Given the description of an element on the screen output the (x, y) to click on. 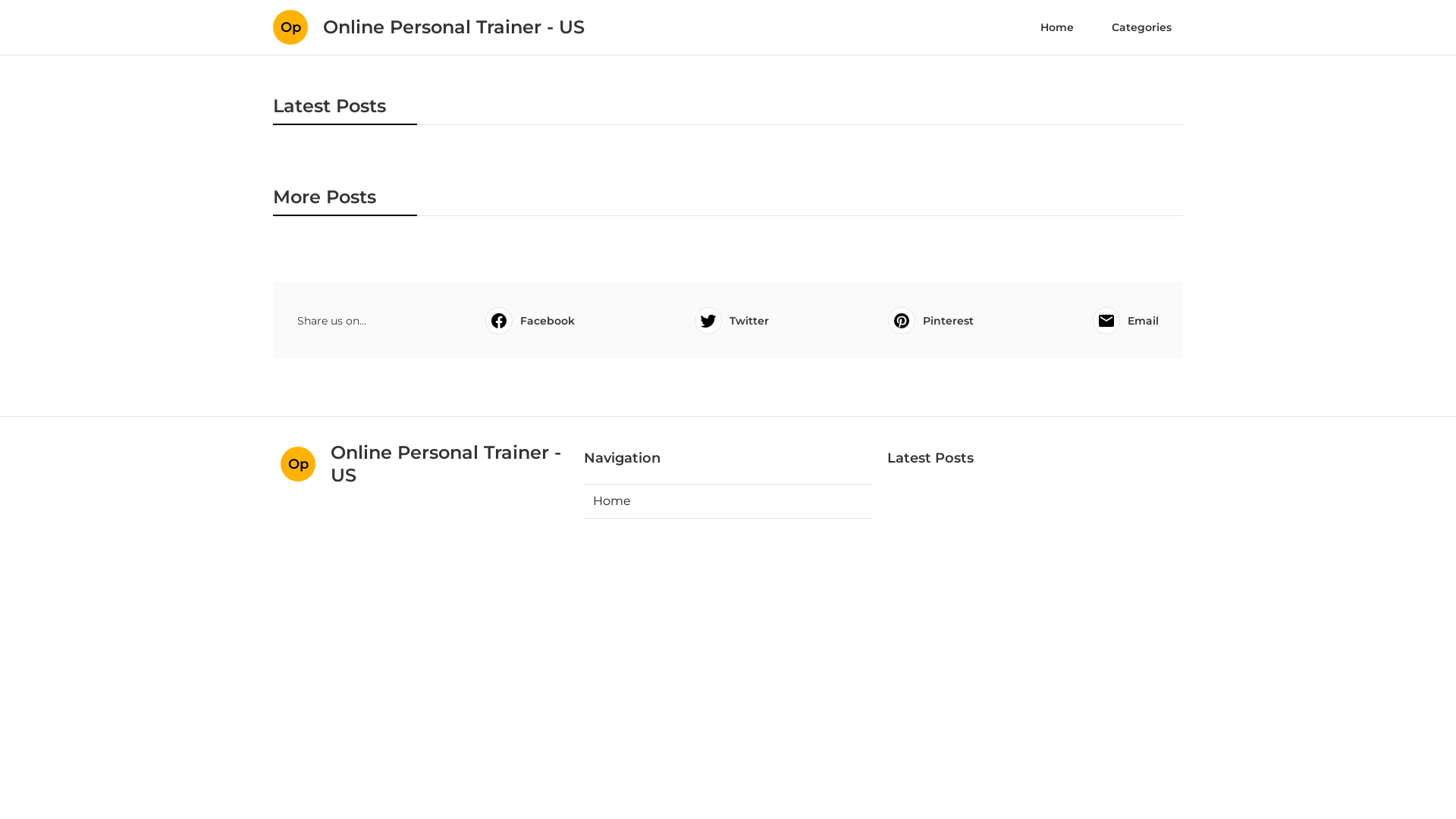
Home Element type: text (727, 500)
Email Element type: text (1125, 320)
Facebook Element type: text (529, 320)
Home Element type: text (1057, 26)
Twitter Element type: text (731, 320)
Pinterest Element type: text (930, 320)
Categories Element type: text (1141, 26)
